Given the description of an element on the screen output the (x, y) to click on. 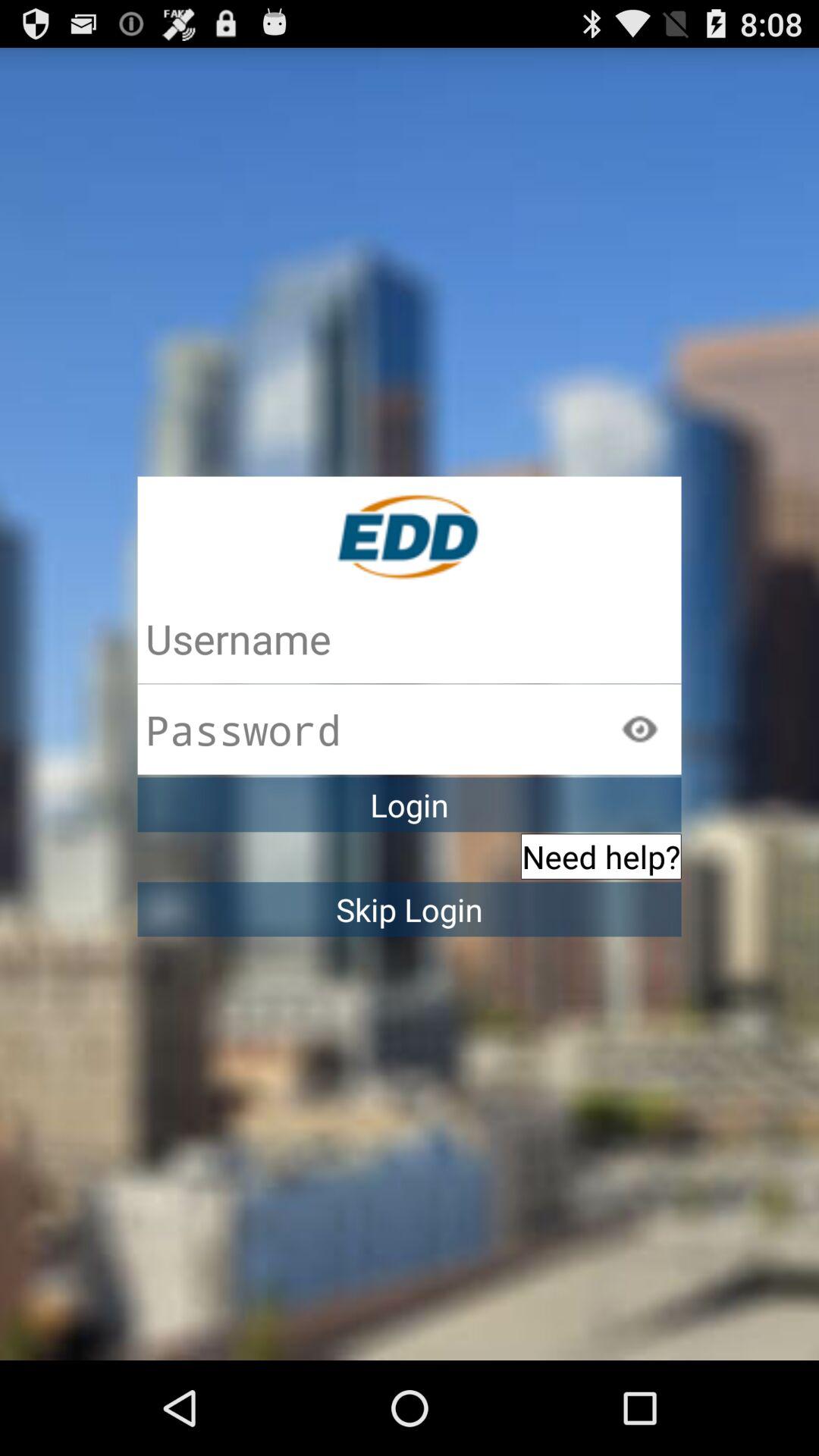
turn on the need help? app (600, 856)
